Given the description of an element on the screen output the (x, y) to click on. 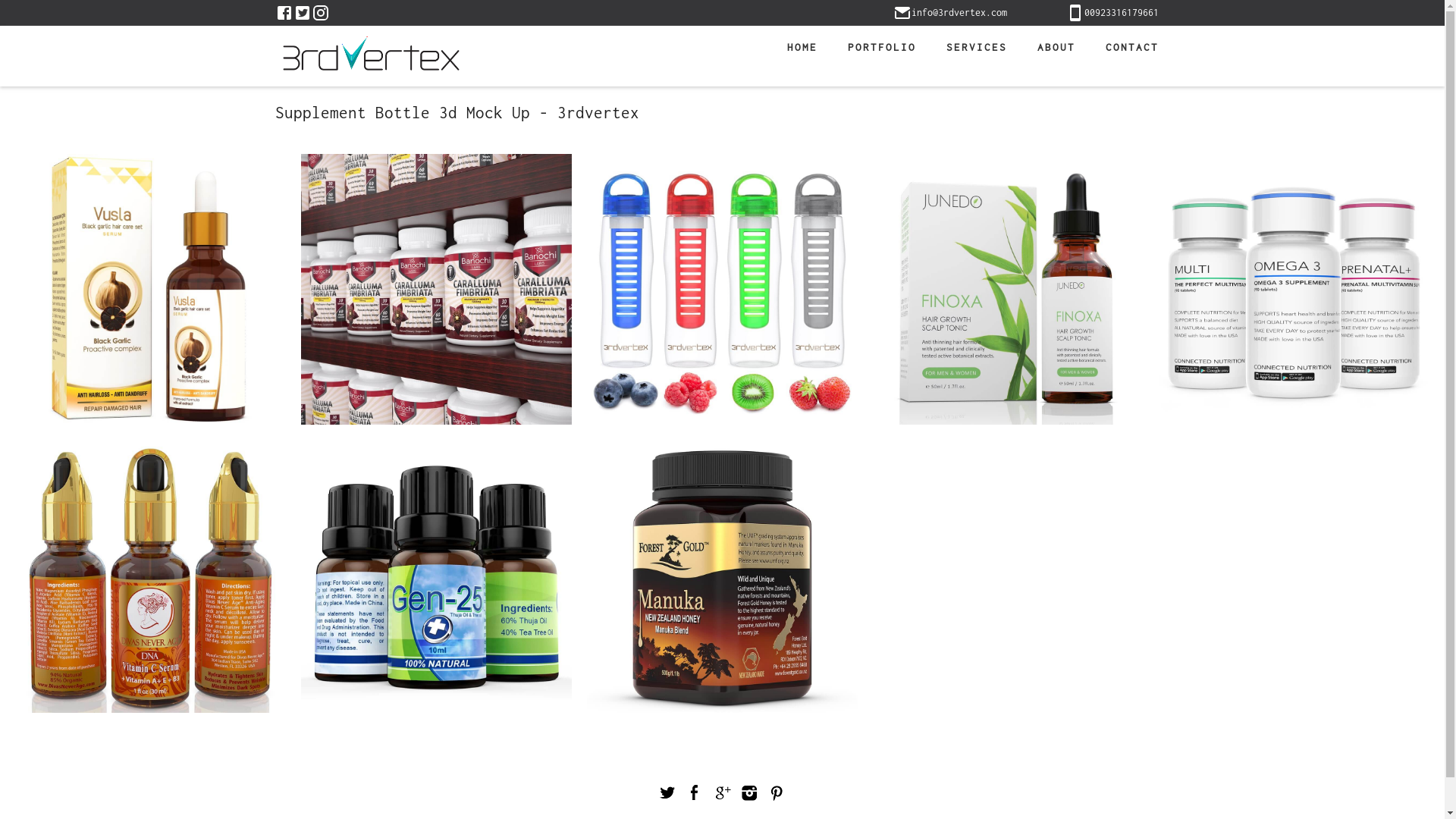
info@3rdvertex.com Element type: text (950, 12)
HOME Element type: text (801, 47)
00923316179661 Element type: text (1112, 12)
ABOUT Element type: text (1055, 47)
PORTFOLIO Element type: text (880, 47)
CONTACT Element type: text (1131, 47)
SERVICES Element type: text (975, 47)
